Given the description of an element on the screen output the (x, y) to click on. 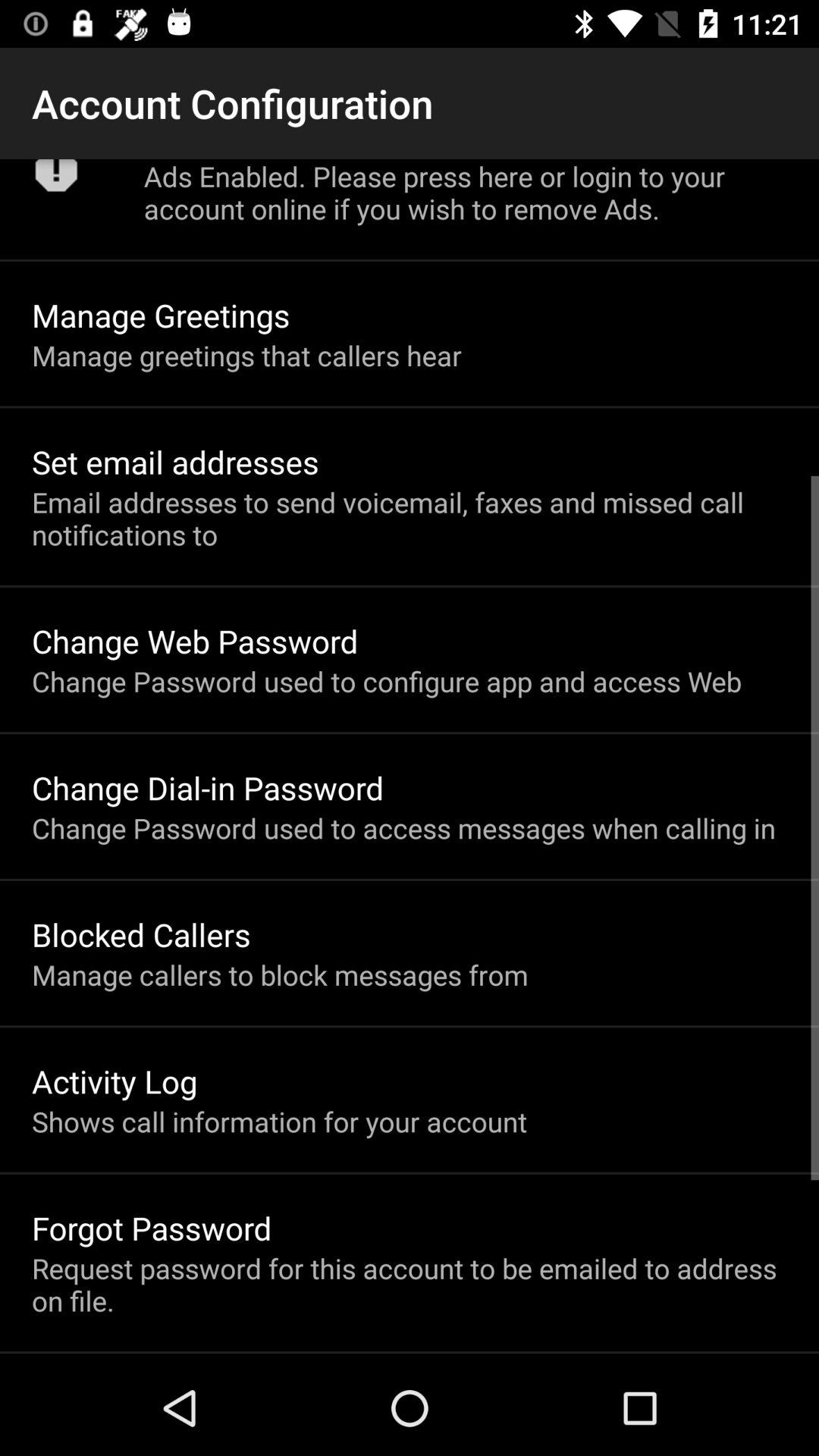
open the request password for icon (409, 1284)
